Given the description of an element on the screen output the (x, y) to click on. 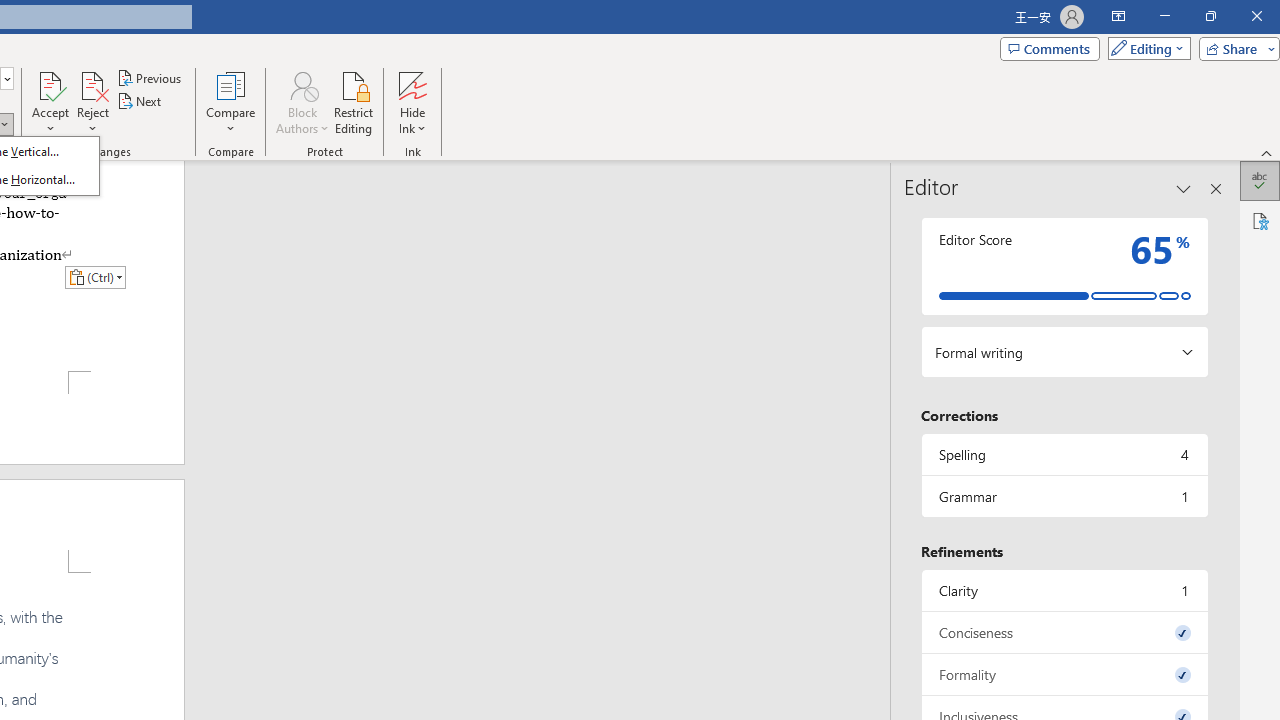
Hide Ink (412, 102)
Block Authors (302, 84)
Editor Score 65% (1064, 266)
Next (140, 101)
Restrict Editing (353, 102)
Previous (150, 78)
Formality, 0 issues. Press space or enter to review items. (1064, 673)
Compare (230, 102)
